Given the description of an element on the screen output the (x, y) to click on. 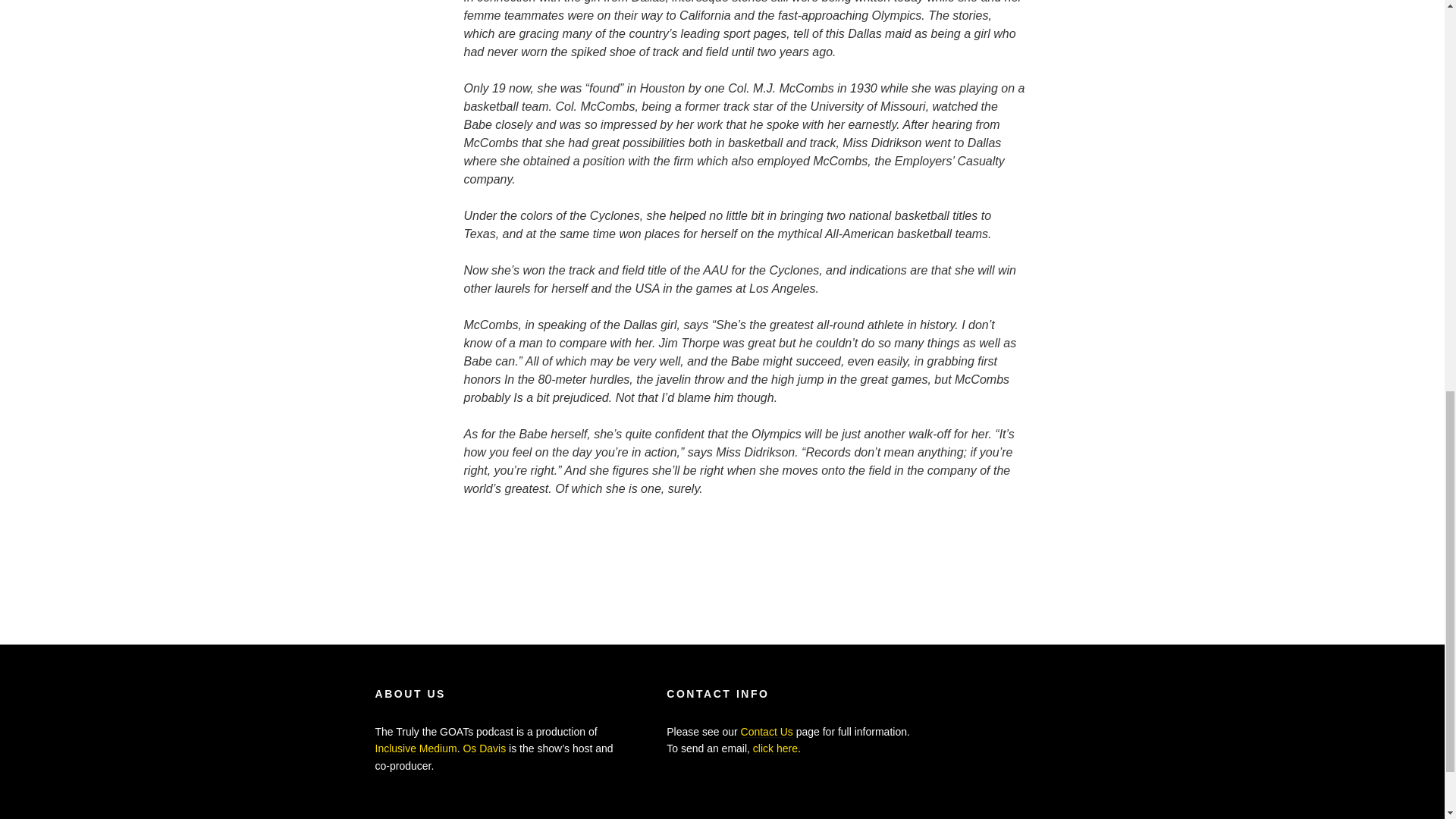
Os Davis (484, 748)
click here (774, 748)
Contact Us (767, 731)
Inclusive Medium (415, 748)
